Given the description of an element on the screen output the (x, y) to click on. 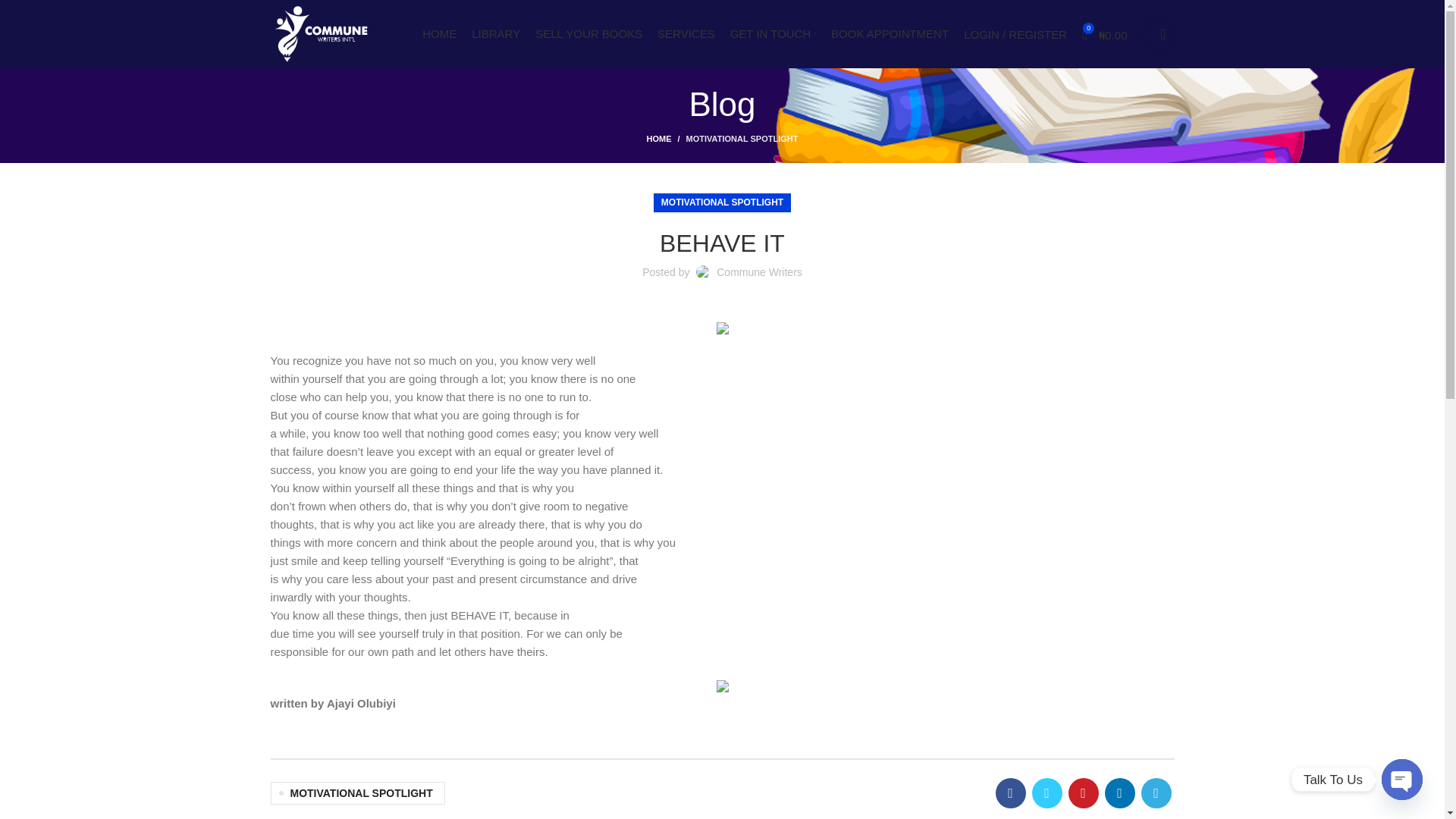
MOTIVATIONAL SPOTLIGHT (356, 793)
My account (1015, 33)
SERVICES (686, 33)
BOOK APPOINTMENT (890, 33)
Shopping cart (1104, 33)
MOTIVATIONAL SPOTLIGHT (741, 138)
Search (1157, 33)
HOME (439, 33)
HOME (665, 138)
LIBRARY (495, 33)
SELL YOUR BOOKS (588, 33)
GET IN TOUCH (772, 33)
MOTIVATIONAL SPOTLIGHT (722, 202)
Commune Writers (759, 272)
